Given the description of an element on the screen output the (x, y) to click on. 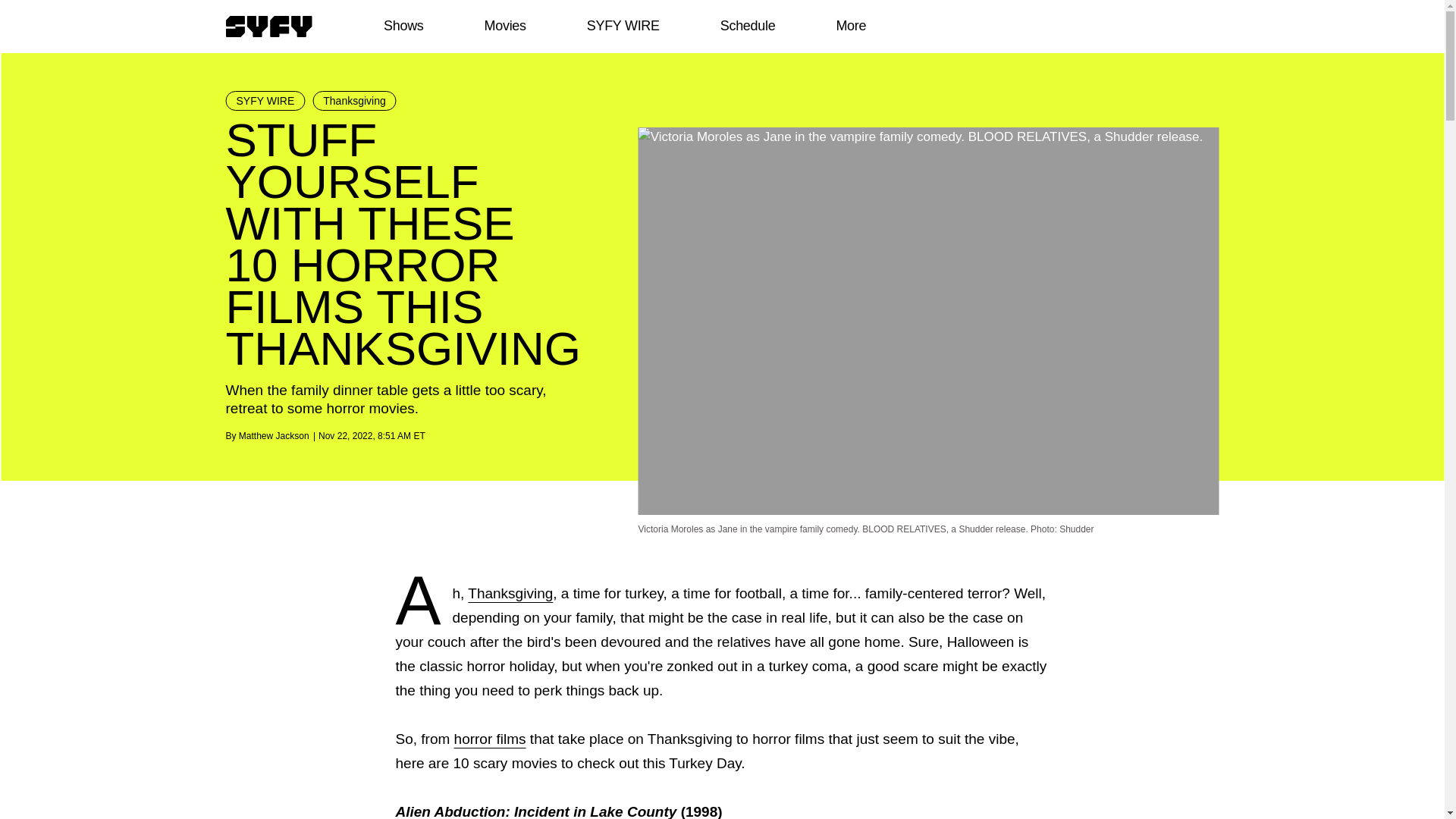
Matthew Jackson (273, 435)
Movies (504, 26)
Thanksgiving (354, 100)
Shows (403, 26)
SYFY WIRE (622, 26)
Schedule (746, 26)
More (850, 26)
horror films (489, 738)
SYFY WIRE (265, 100)
